Given the description of an element on the screen output the (x, y) to click on. 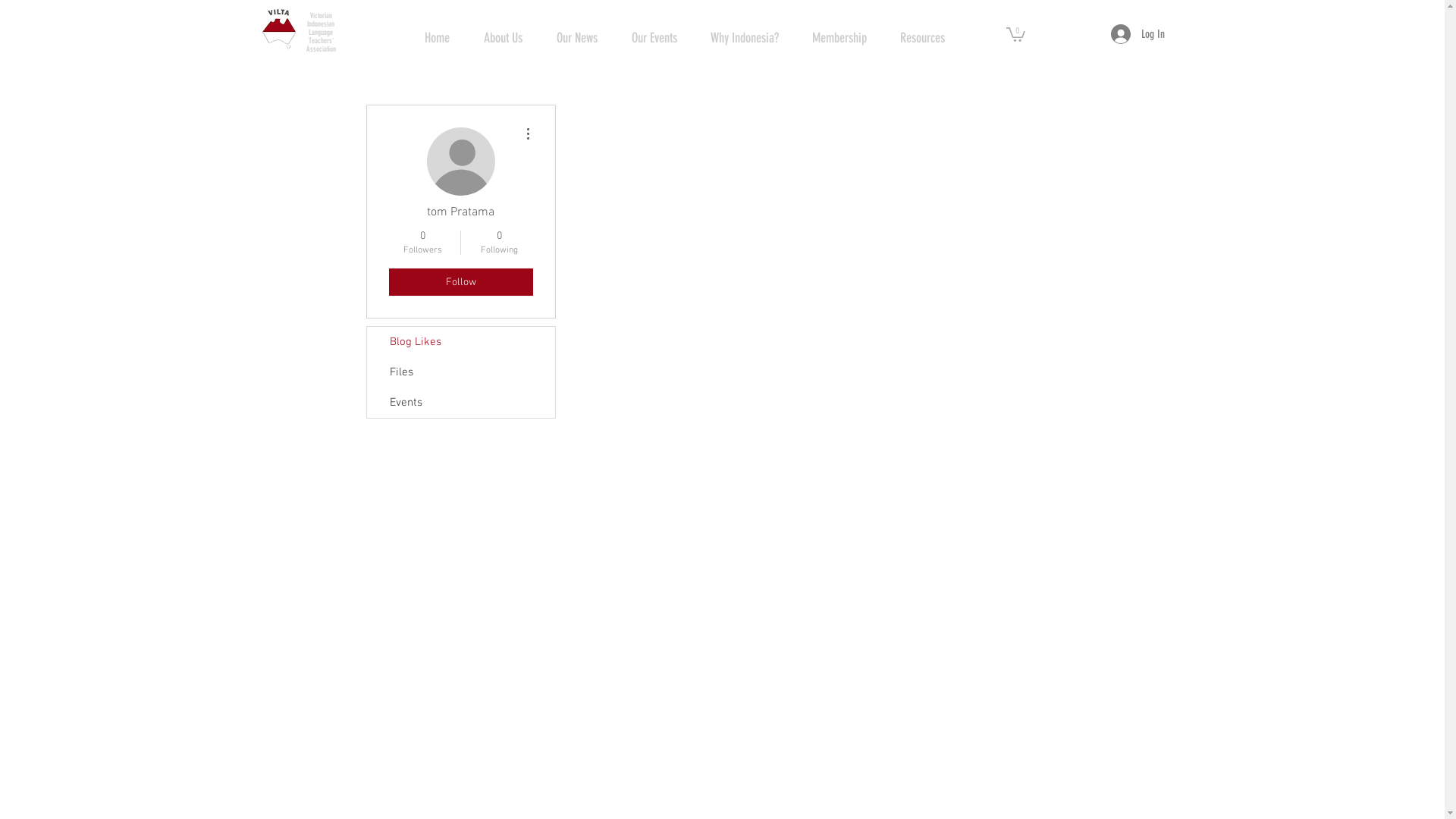
Events Element type: text (461, 402)
Home Element type: text (437, 37)
Files Element type: text (461, 372)
Our Events Element type: text (653, 37)
Log In Element type: text (1136, 33)
Blog Likes Element type: text (461, 341)
Why Indonesia? Element type: text (743, 37)
0
Followers Element type: text (421, 242)
Follow Element type: text (460, 281)
Resources Element type: text (921, 37)
Membership Element type: text (838, 37)
About Us Element type: text (503, 37)
0 Element type: text (1014, 33)
0
Following Element type: text (499, 242)
Our News Element type: text (577, 37)
